Given the description of an element on the screen output the (x, y) to click on. 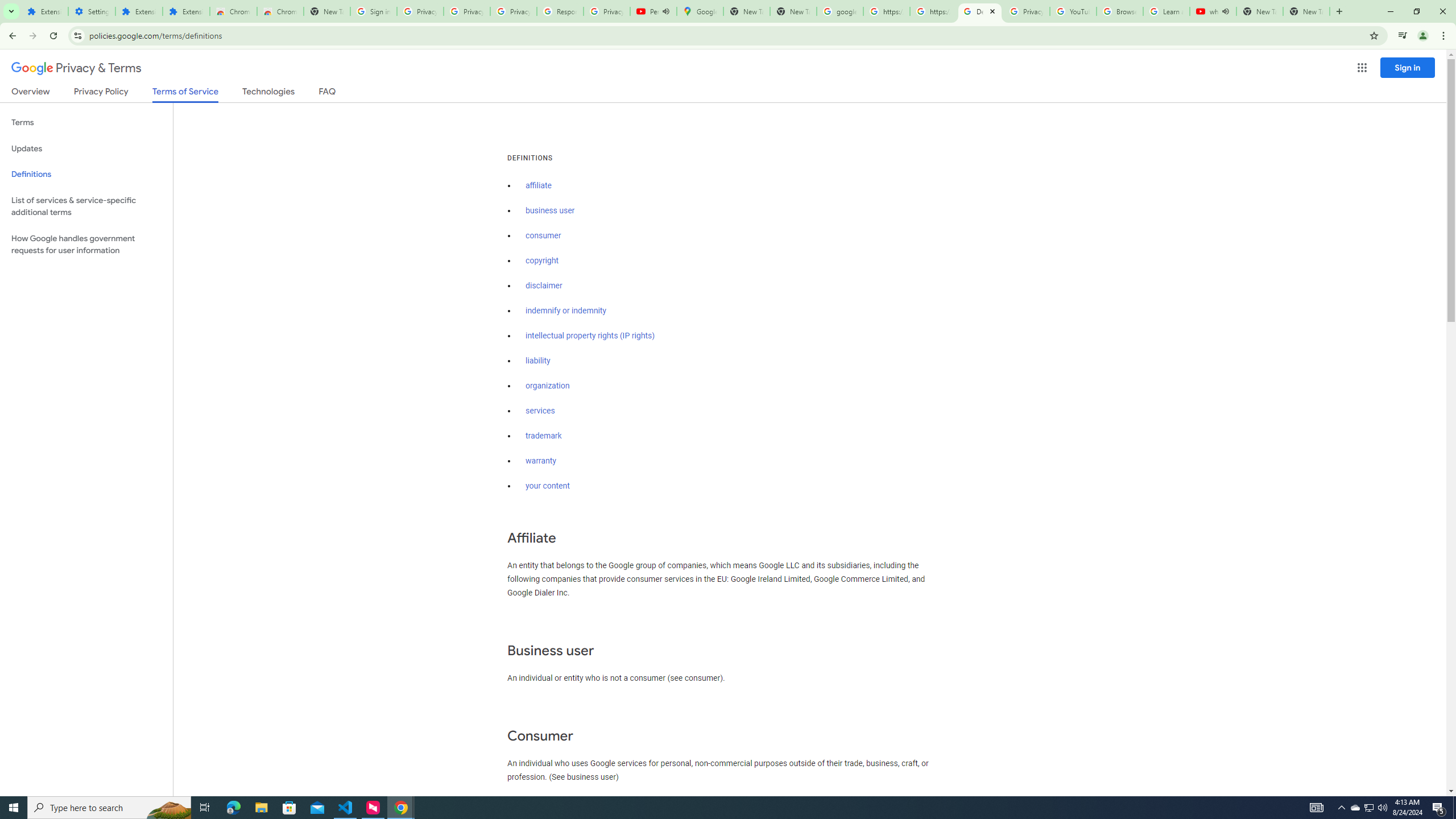
consumer (543, 235)
Mute tab (1225, 10)
New Tab (1306, 11)
List of services & service-specific additional terms (86, 206)
Browse Chrome as a guest - Computer - Google Chrome Help (1120, 11)
Chrome Web Store (233, 11)
How Google handles government requests for user information (86, 244)
indemnify or indemnity (565, 311)
